Given the description of an element on the screen output the (x, y) to click on. 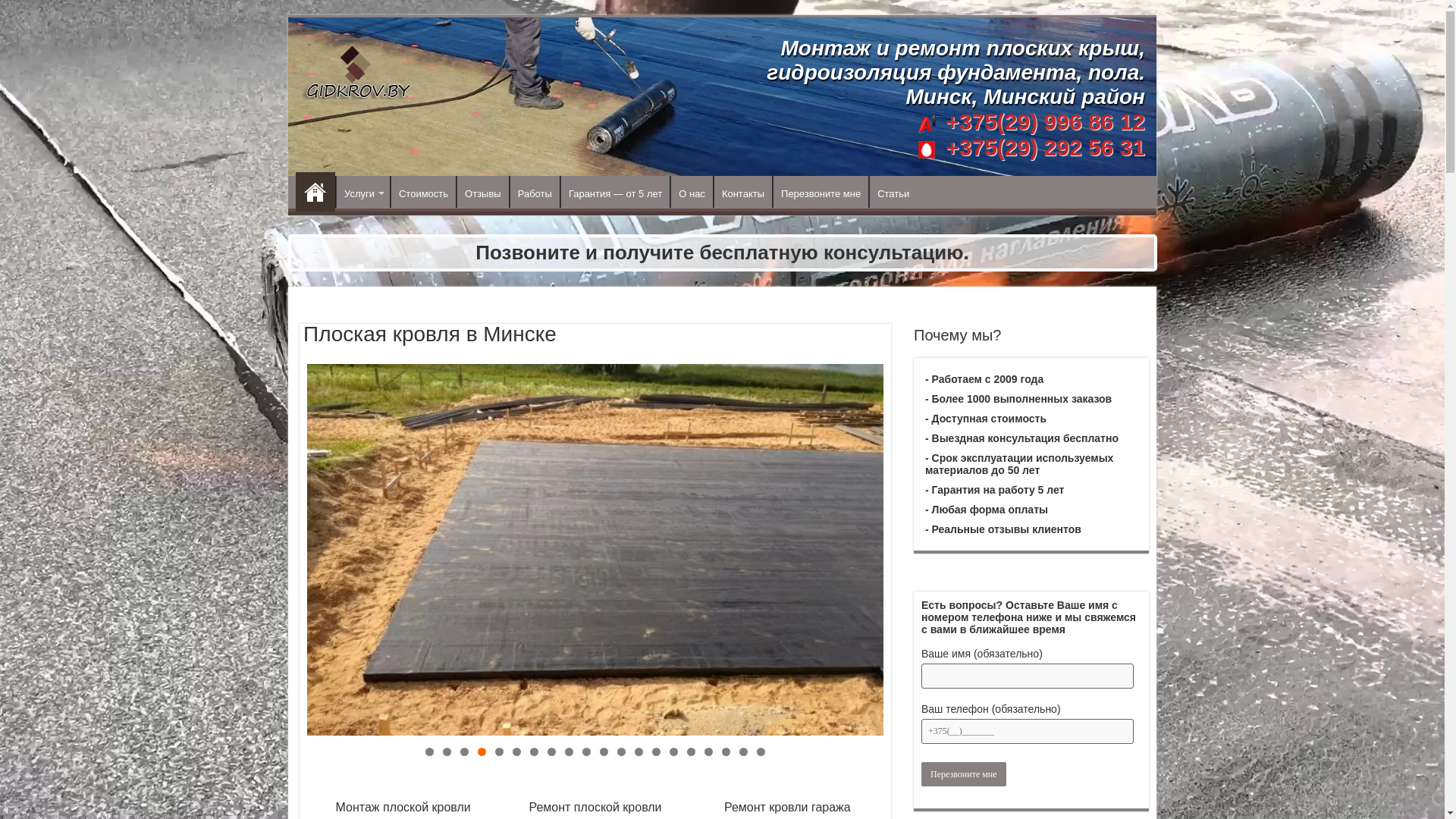
4 Element type: text (481, 751)
13 Element type: text (638, 751)
6 Element type: text (516, 751)
9 Element type: text (568, 751)
3 Element type: text (464, 751)
14 Element type: text (656, 751)
17 Element type: text (708, 751)
8 Element type: text (551, 751)
10 Element type: text (586, 751)
1 Element type: text (429, 751)
+375(29) 996 86 12 Element type: text (1045, 121)
12 Element type: text (621, 751)
19 Element type: text (743, 751)
7 Element type: text (534, 751)
5 Element type: text (499, 751)
16 Element type: text (691, 751)
18 Element type: text (725, 751)
20 Element type: text (760, 751)
2 Element type: text (446, 751)
15 Element type: text (673, 751)
+375(29) 292 56 31 Element type: text (1042, 147)
11 Element type: text (603, 751)
